Given the description of an element on the screen output the (x, y) to click on. 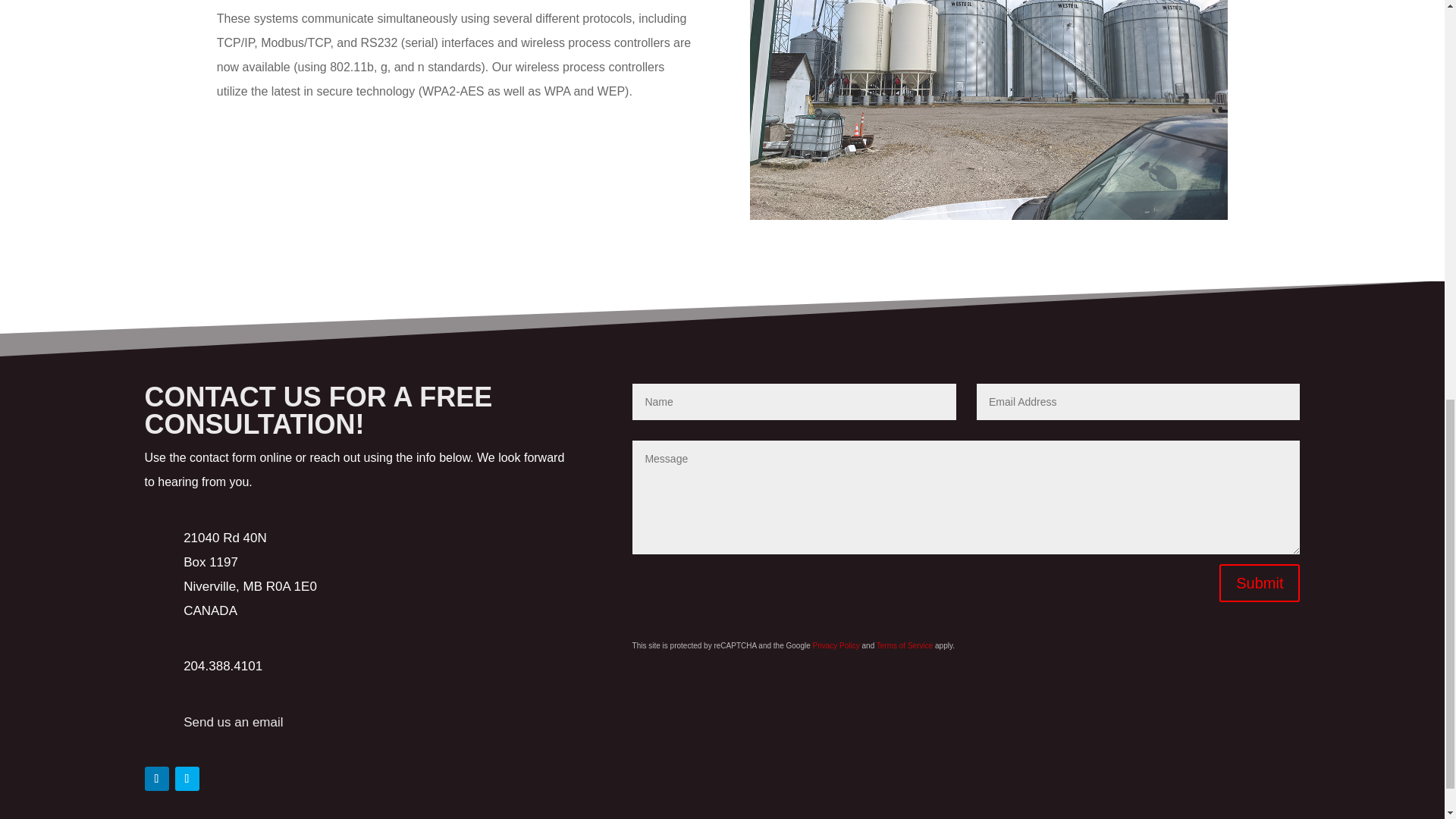
Send us an email (232, 721)
Privacy Policy (836, 645)
Submit (1260, 582)
Terms of Service (904, 645)
Follow on LinkedIn (156, 778)
Follow on Twitter (186, 778)
